Given the description of an element on the screen output the (x, y) to click on. 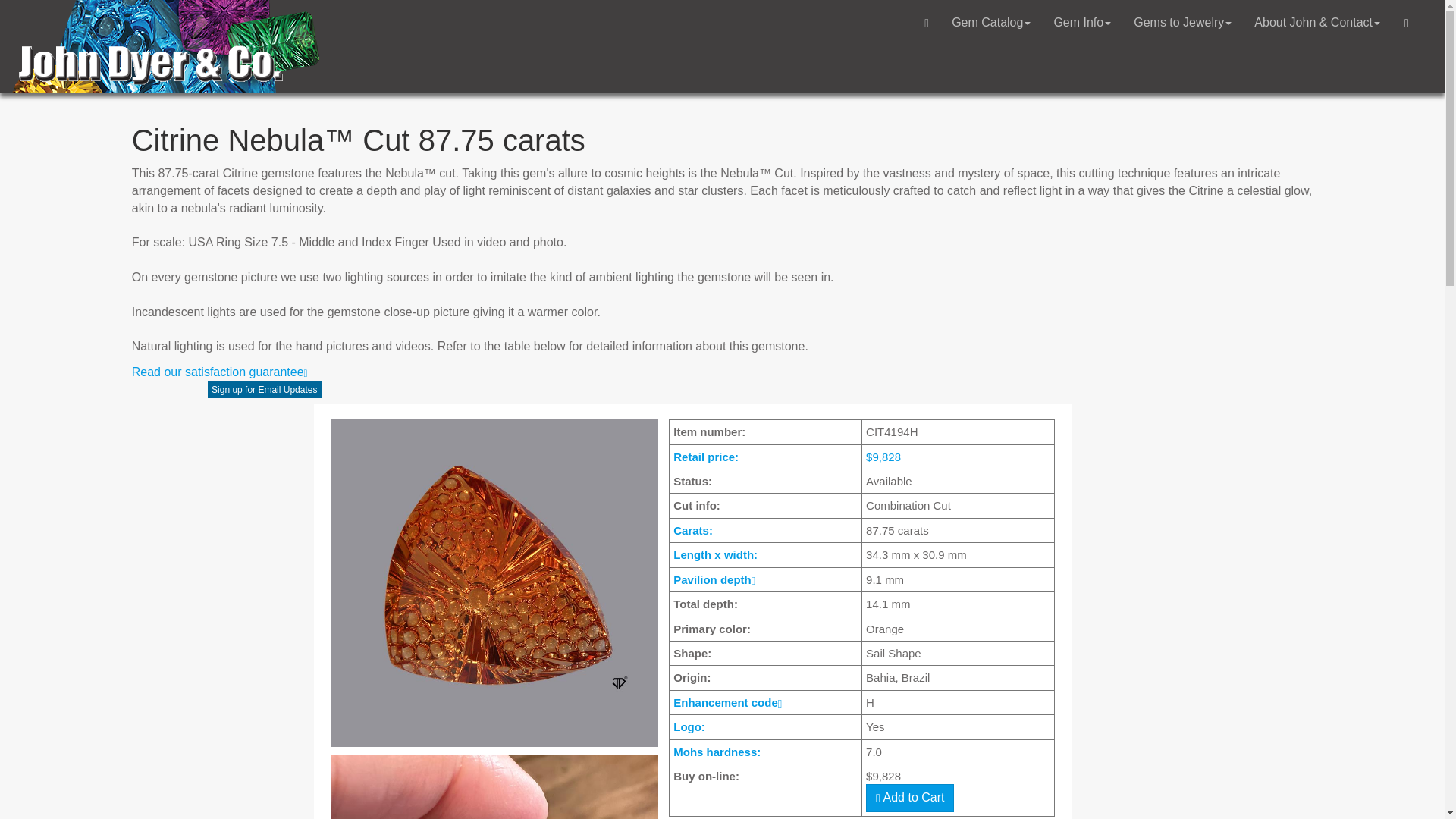
Gems to Jewelry (1182, 22)
Gem Info (1082, 22)
Gem Catalog (991, 22)
